Given the description of an element on the screen output the (x, y) to click on. 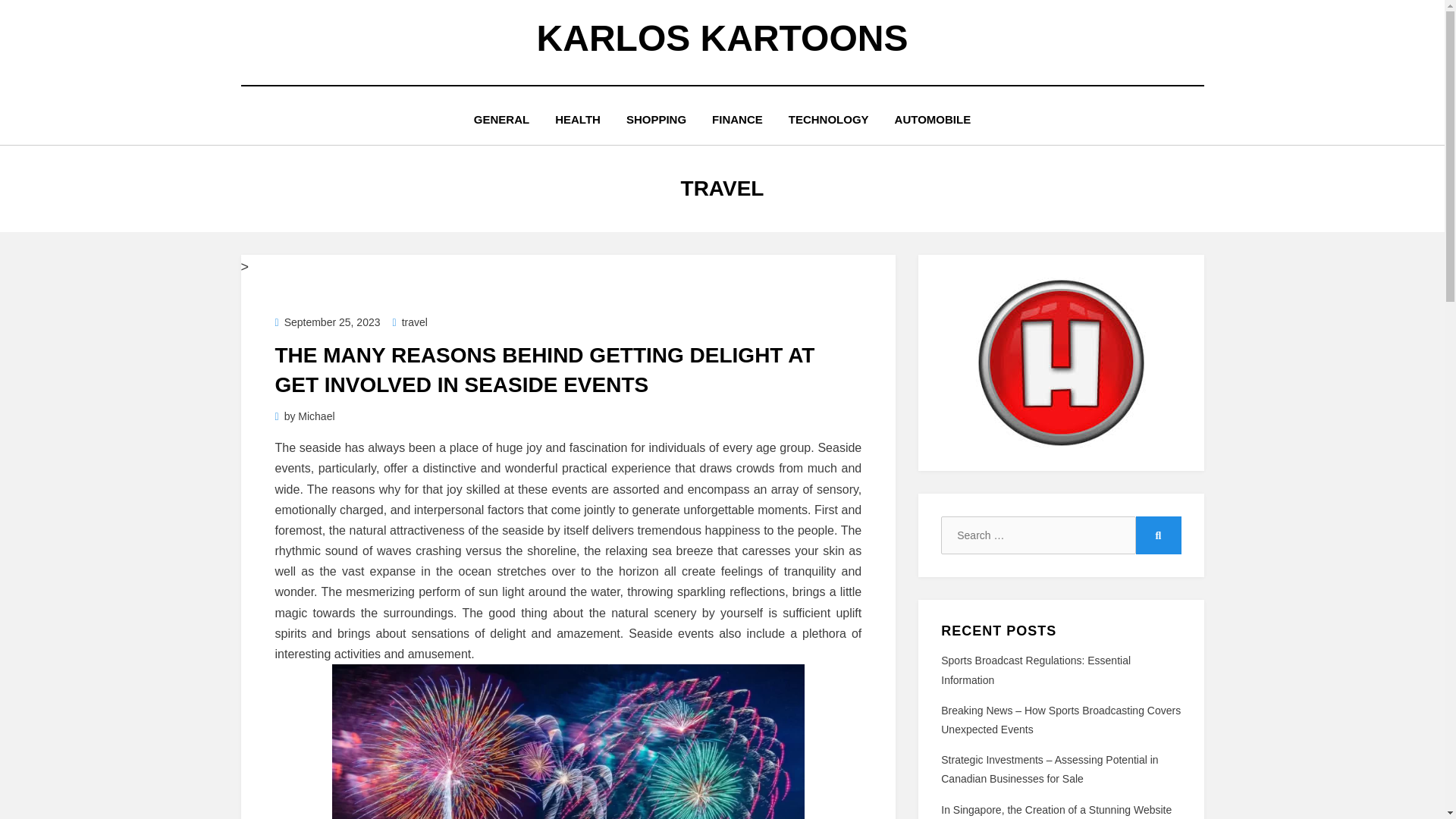
Sports Broadcast Regulations: Essential Information (1035, 669)
TECHNOLOGY (829, 118)
AUTOMOBILE (933, 118)
Karlos Kartoons (722, 38)
travel (410, 322)
KARLOS KARTOONS (722, 38)
Search (1157, 535)
FINANCE (737, 118)
Search for: (1037, 535)
travel (410, 322)
Michael (316, 416)
GENERAL (501, 118)
September 25, 2023 (327, 322)
HEALTH (576, 118)
